Given the description of an element on the screen output the (x, y) to click on. 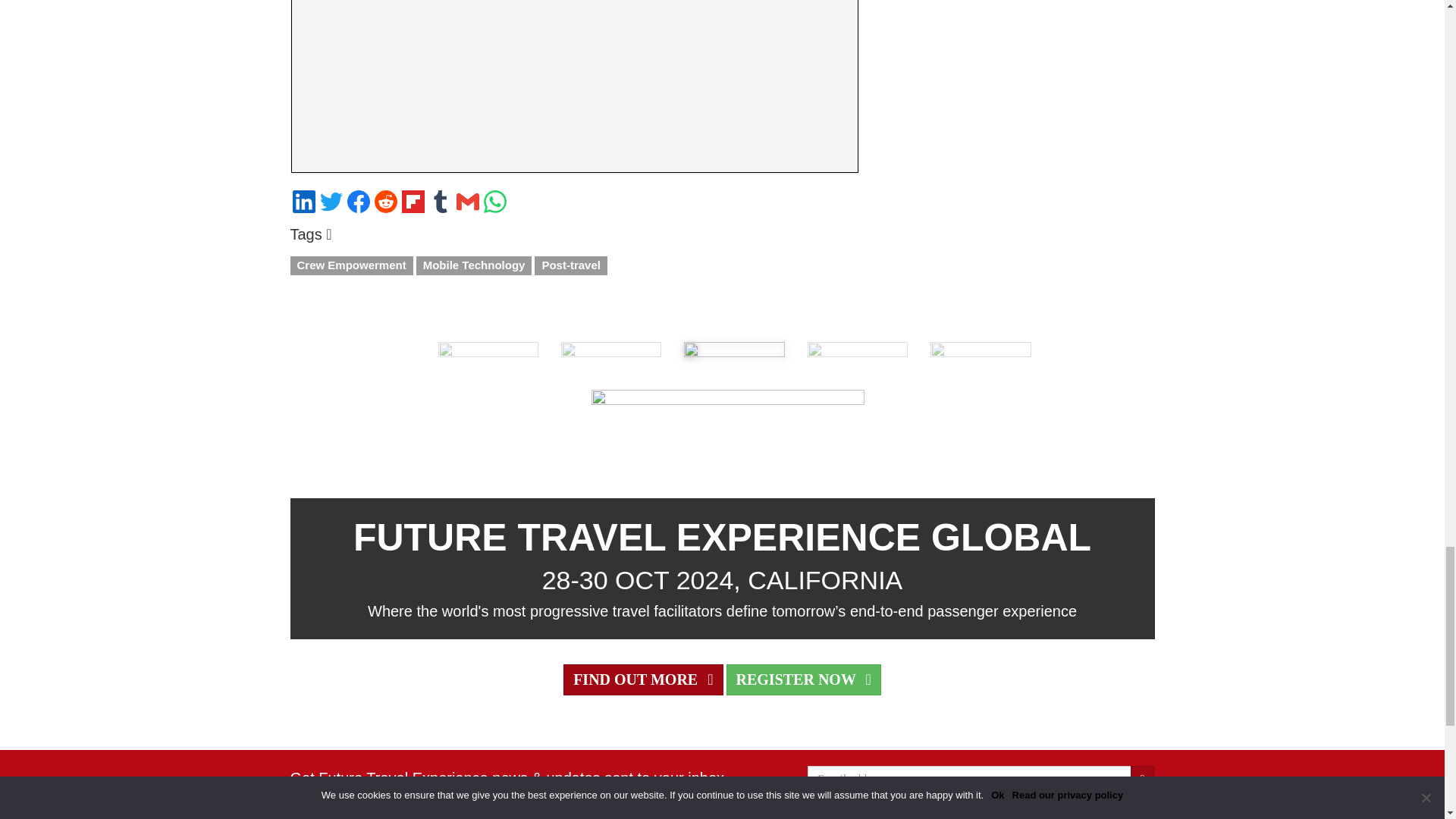
Mobile Technology (474, 265)
Post-travel (570, 265)
Crew Empowerment (350, 265)
YouTube video player (573, 80)
